Given the description of an element on the screen output the (x, y) to click on. 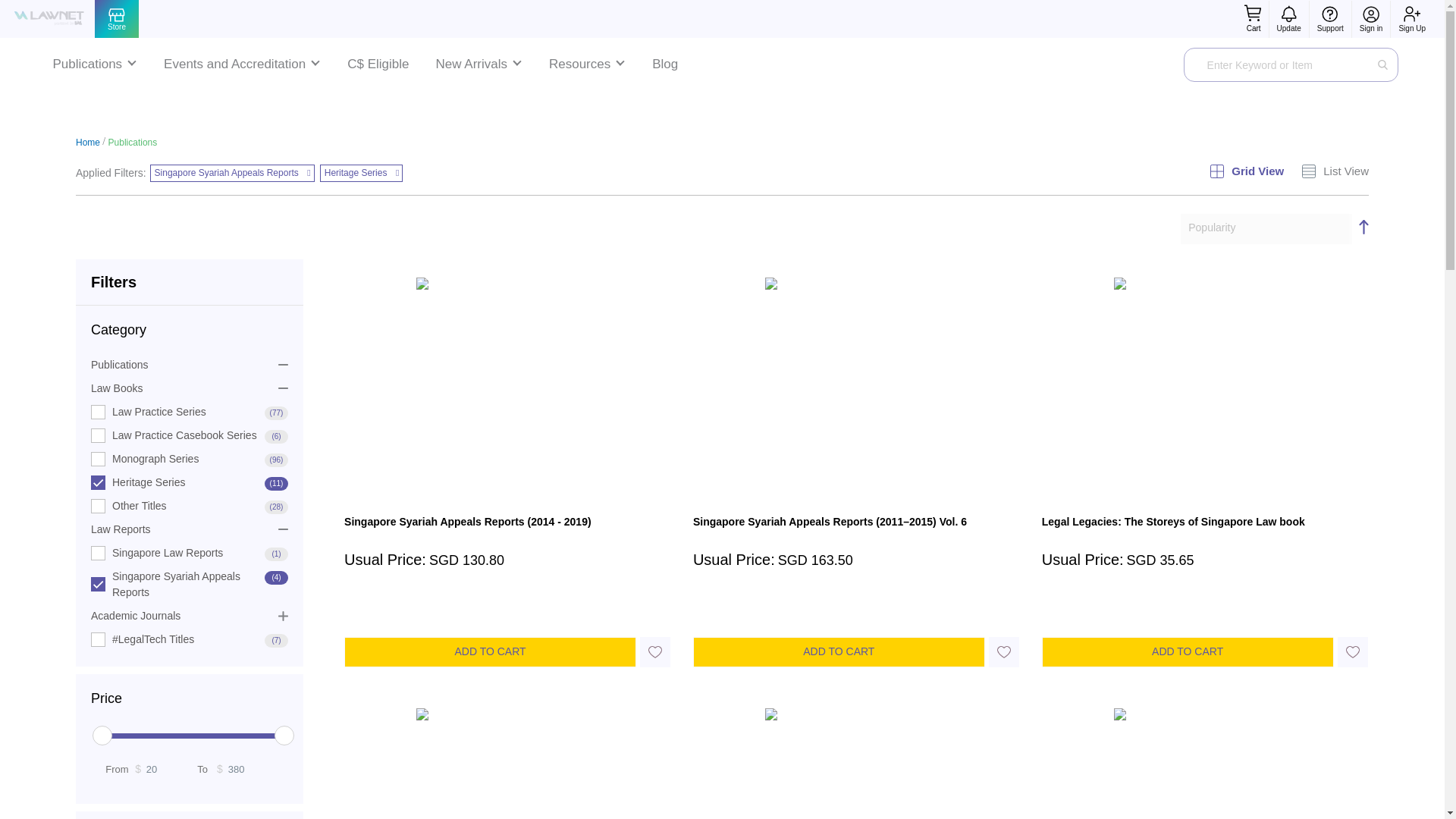
Publications (94, 63)
20 (169, 768)
Sign in (1371, 27)
Update (1288, 27)
Support (1330, 27)
Events and Accreditation (241, 63)
Go to Home Page (88, 142)
Store (116, 19)
Add to Cart (489, 652)
Add to Wishlist (1003, 651)
